Given the description of an element on the screen output the (x, y) to click on. 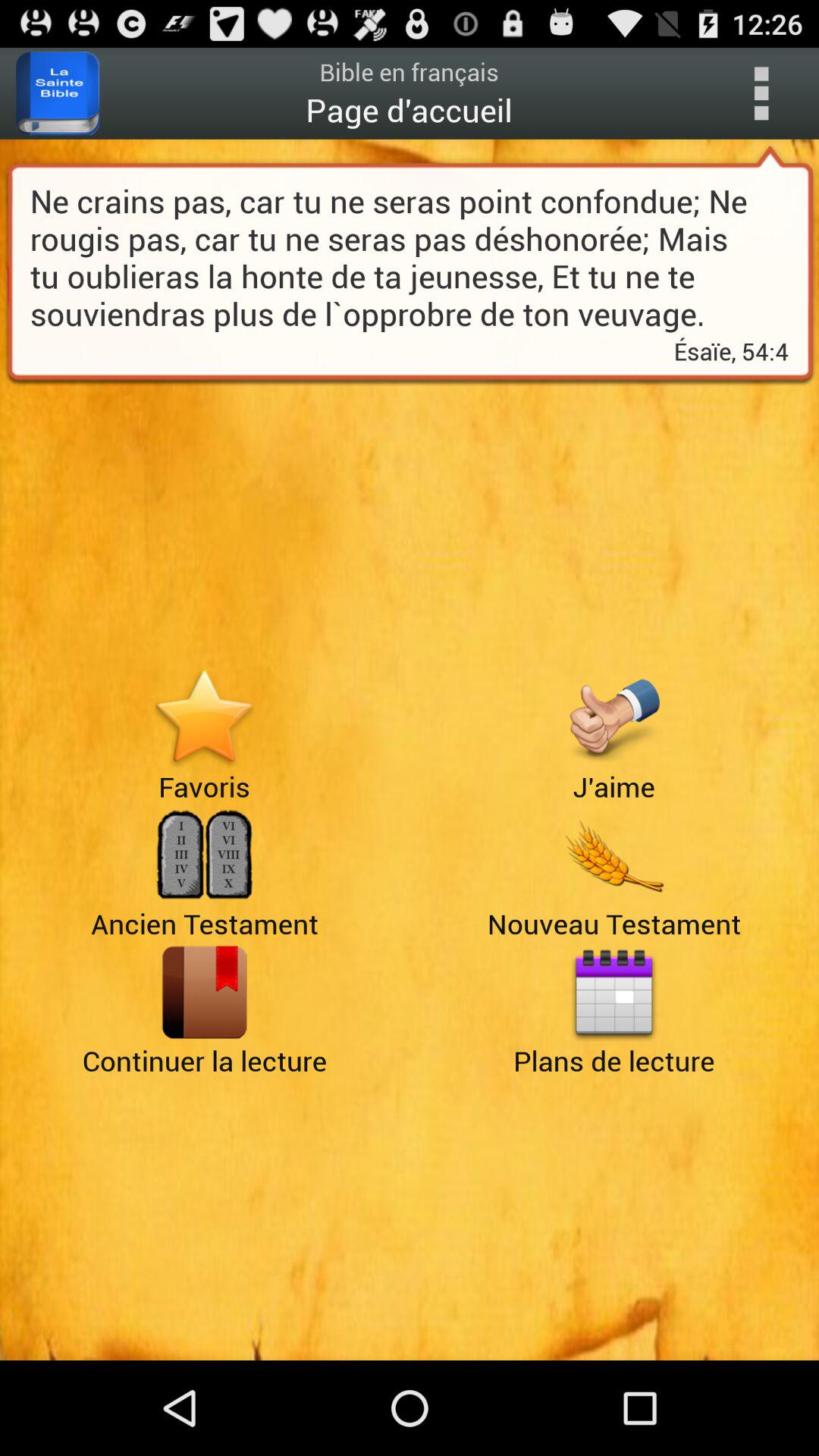
goto favoris (204, 717)
